Given the description of an element on the screen output the (x, y) to click on. 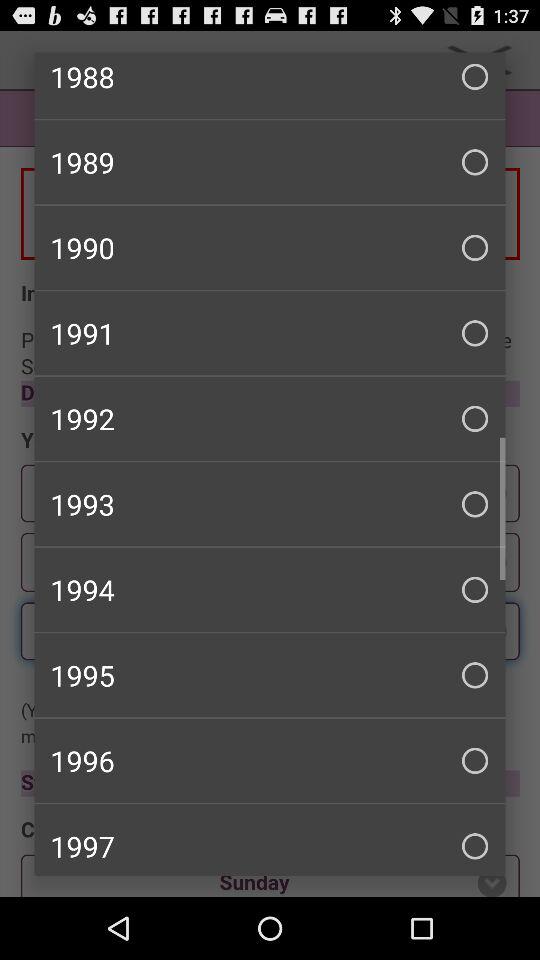
tap icon above the 1992 item (269, 333)
